Given the description of an element on the screen output the (x, y) to click on. 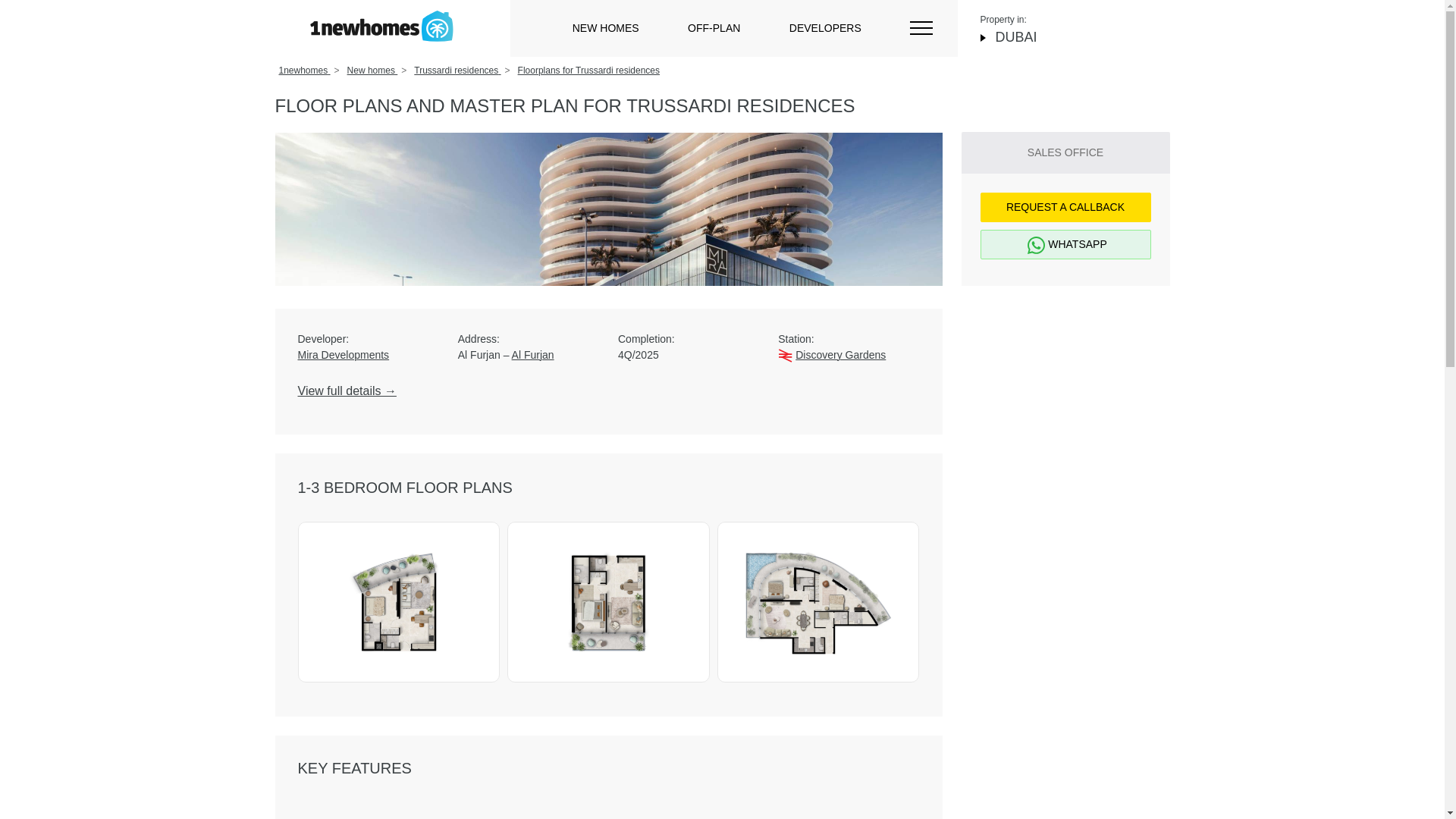
Floorplans for Trussardi residences (588, 70)
NEW HOMES (605, 28)
New homes in Dubai (380, 25)
OFF-PLAN (713, 28)
Mira Developments (367, 355)
1newhomes (304, 70)
DEVELOPERS (825, 28)
WHATSAPP (1064, 244)
REQUEST A CALLBACK (1064, 206)
Al Furjan (533, 354)
